Given the description of an element on the screen output the (x, y) to click on. 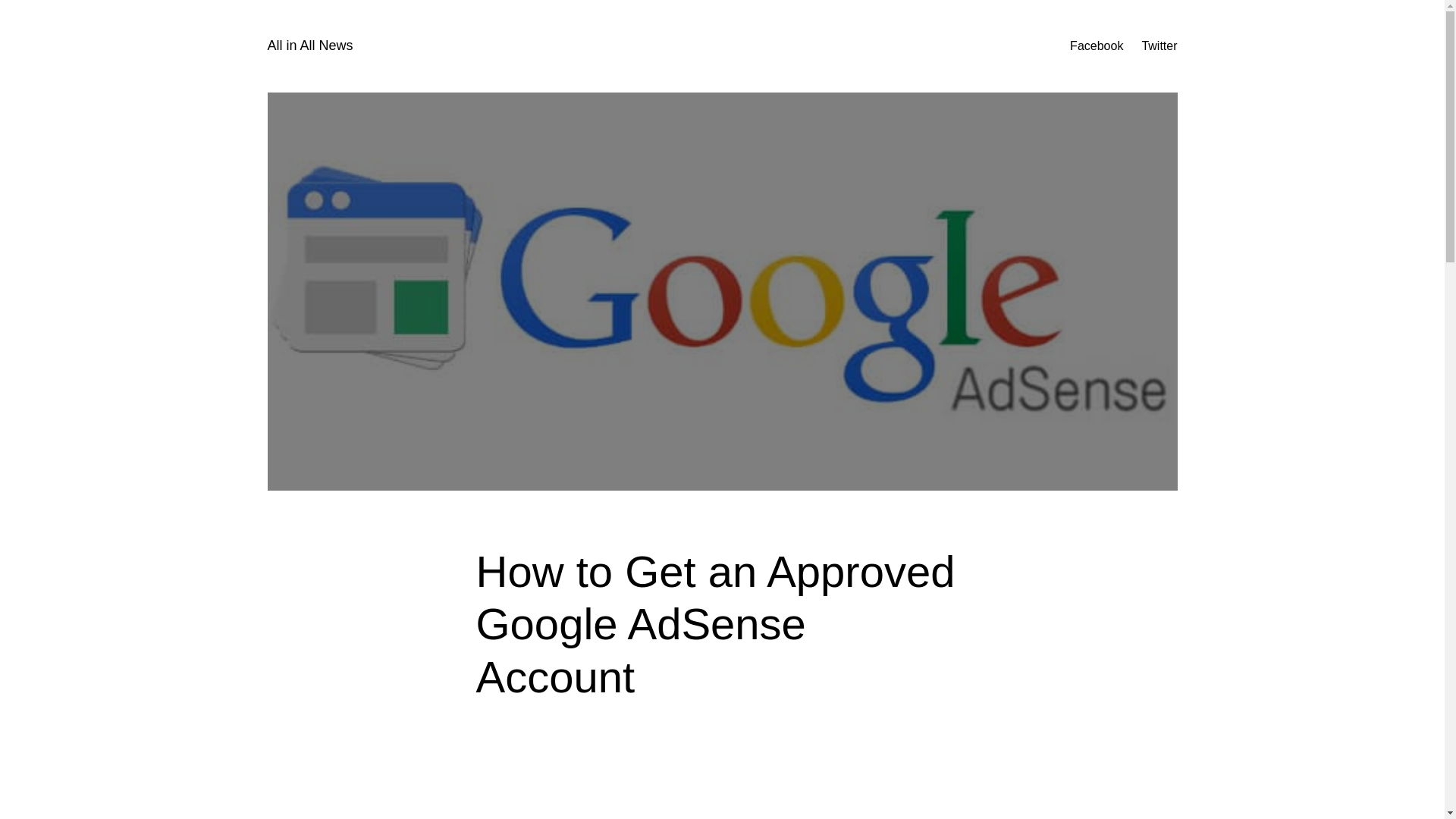
Twitter (1158, 46)
Advertisement (751, 773)
All in All News (309, 45)
Facebook (1096, 46)
